Given the description of an element on the screen output the (x, y) to click on. 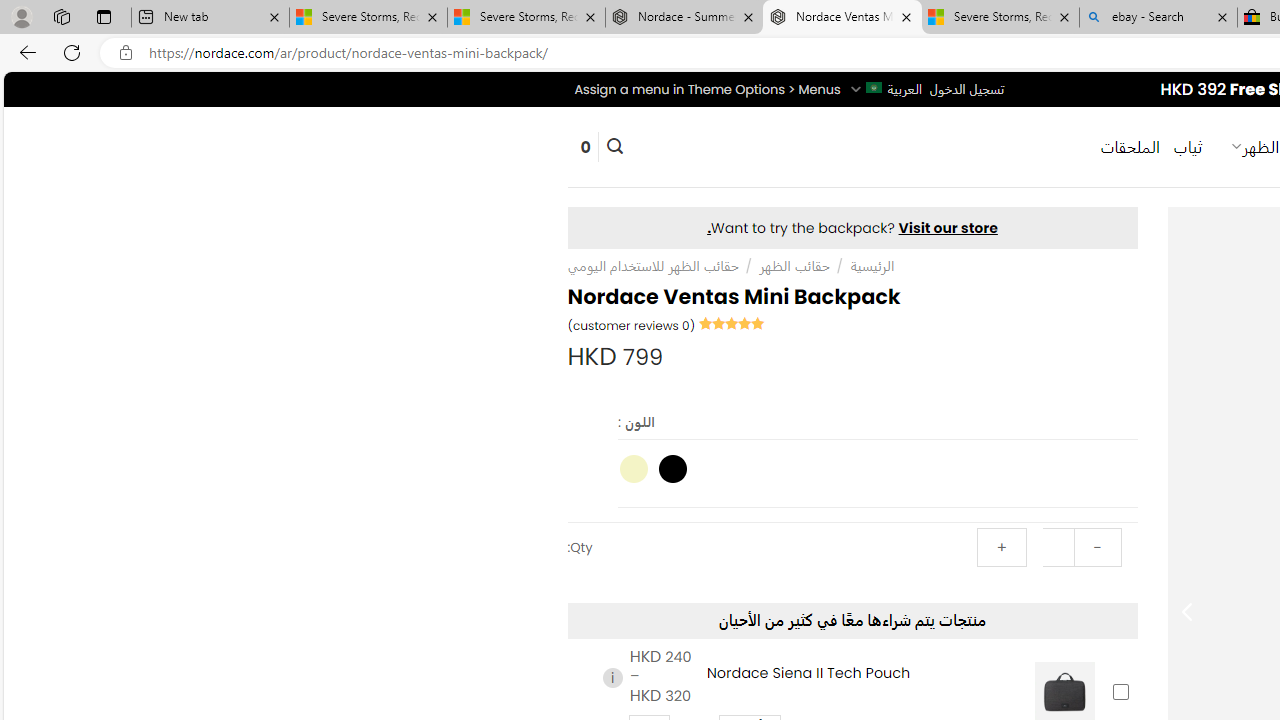
Nordace Ventas Mini Backpack (842, 17)
  0 (585, 146)
Assign a menu in Theme Options > Menus (706, 89)
Assign a menu in Theme Options > Menus (706, 89)
